Given the description of an element on the screen output the (x, y) to click on. 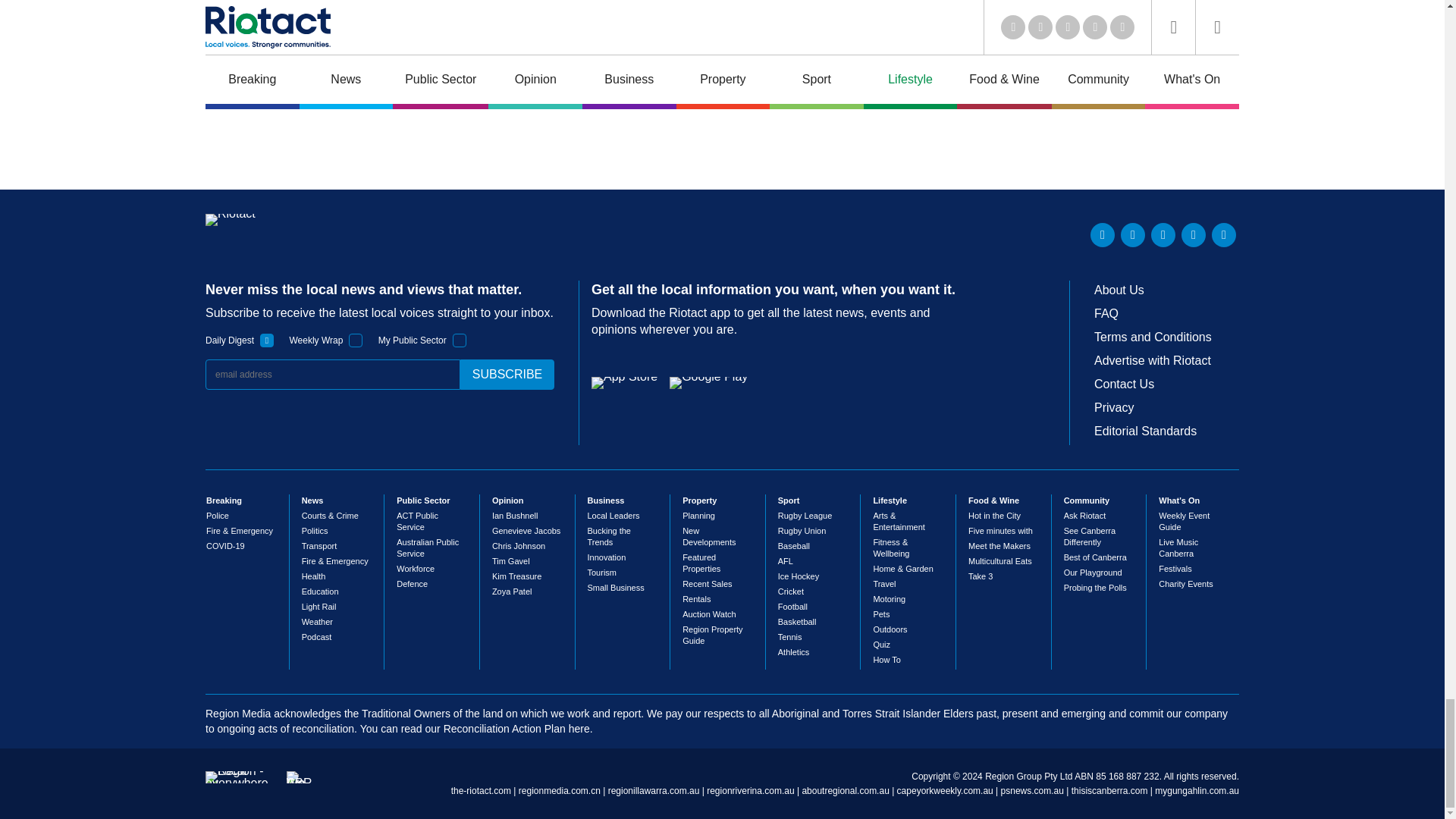
1 (458, 340)
subscribe (507, 374)
Twitter (1132, 234)
Instagram (1223, 234)
1 (266, 340)
Facebook (1192, 234)
1 (355, 340)
LinkedIn (1102, 234)
App Store (624, 382)
Youtube (1162, 234)
